Given the description of an element on the screen output the (x, y) to click on. 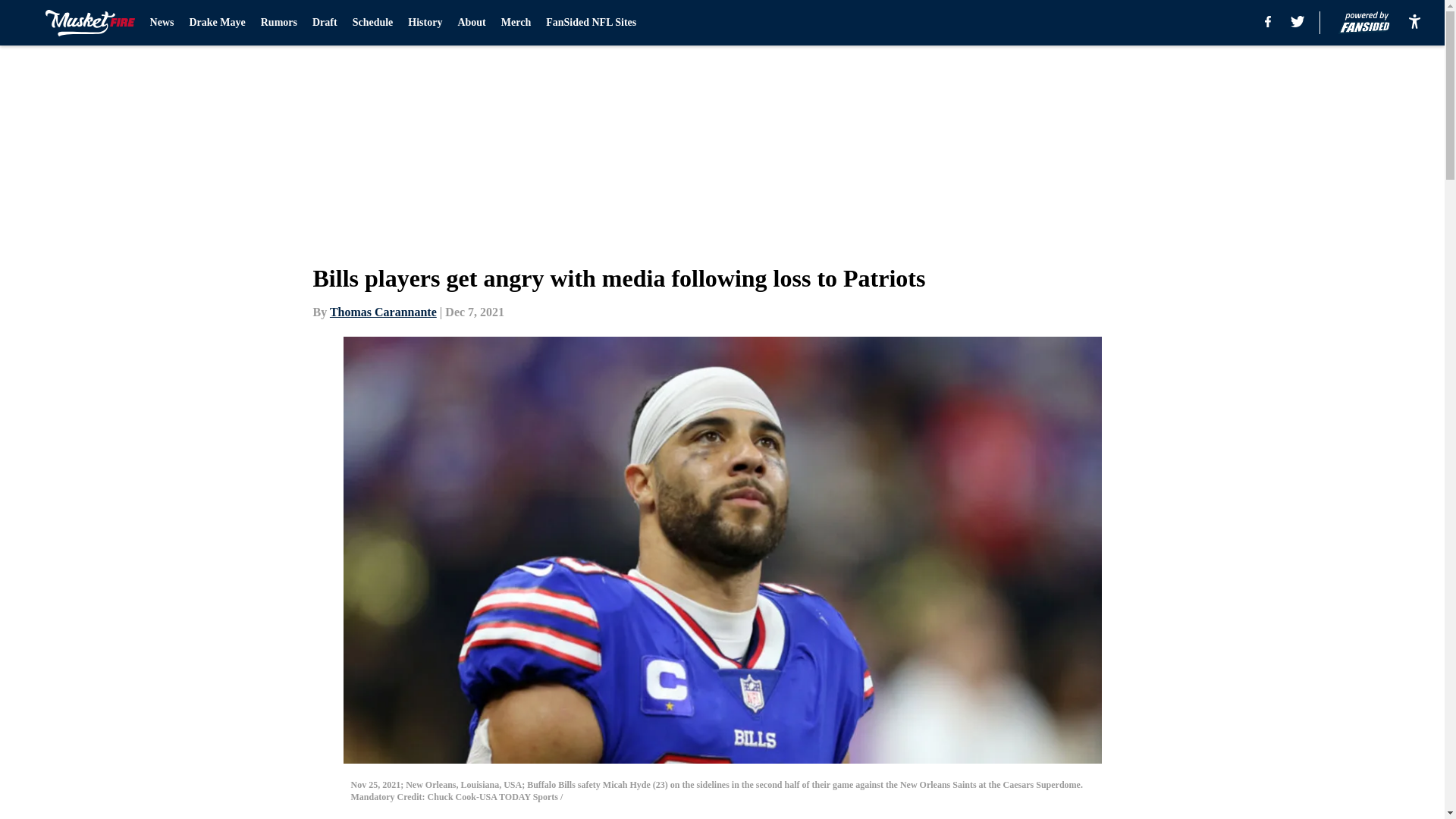
Schedule (372, 22)
Thomas Carannante (383, 311)
FanSided NFL Sites (591, 22)
About (470, 22)
Draft (325, 22)
Merch (515, 22)
Drake Maye (216, 22)
History (424, 22)
Rumors (278, 22)
News (161, 22)
